Given the description of an element on the screen output the (x, y) to click on. 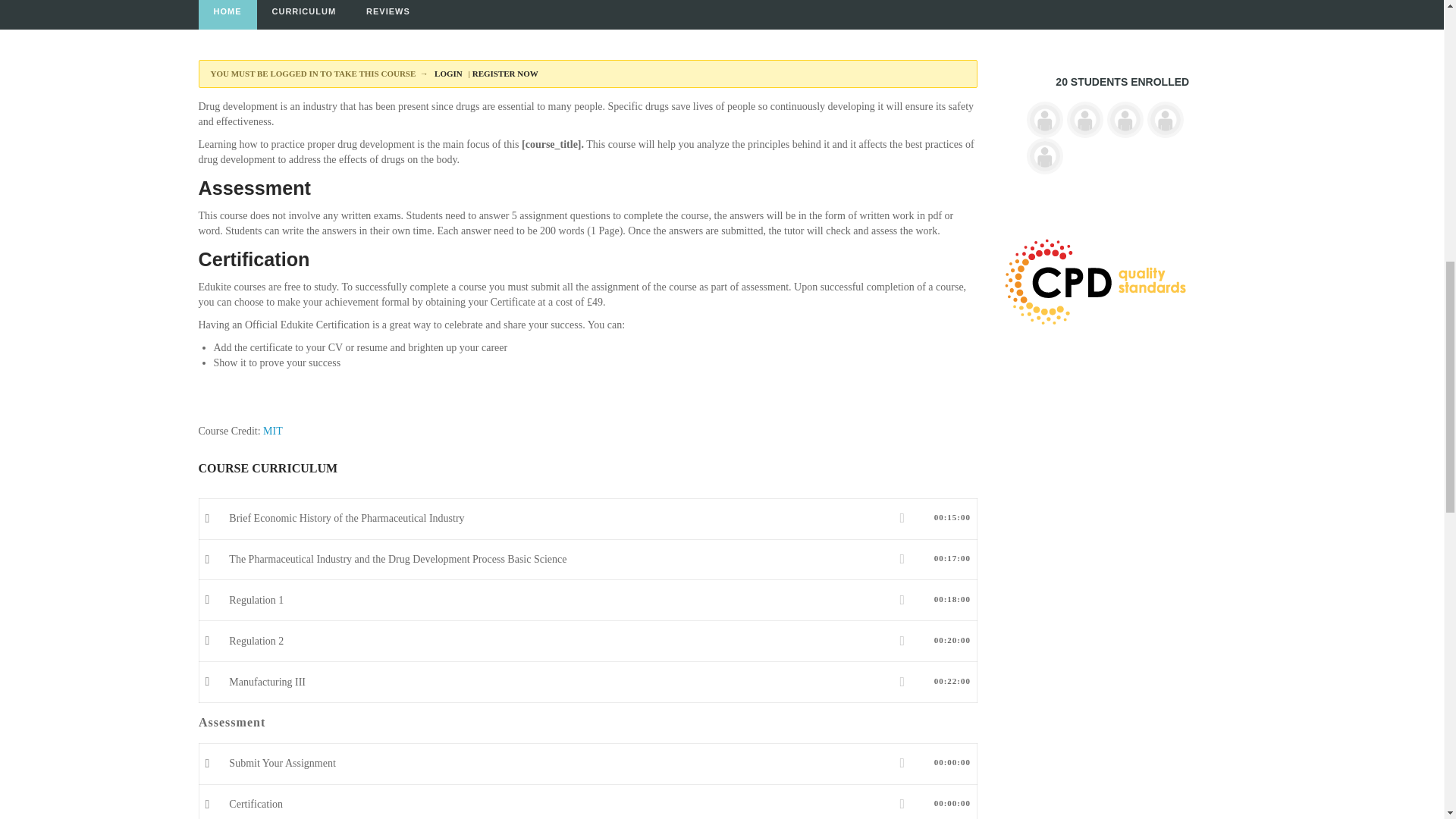
CURRICULUM (303, 14)
MIT (272, 430)
HOME (227, 14)
REVIEWS (387, 14)
REGISTER NOW (506, 72)
LOGIN (448, 72)
